Given the description of an element on the screen output the (x, y) to click on. 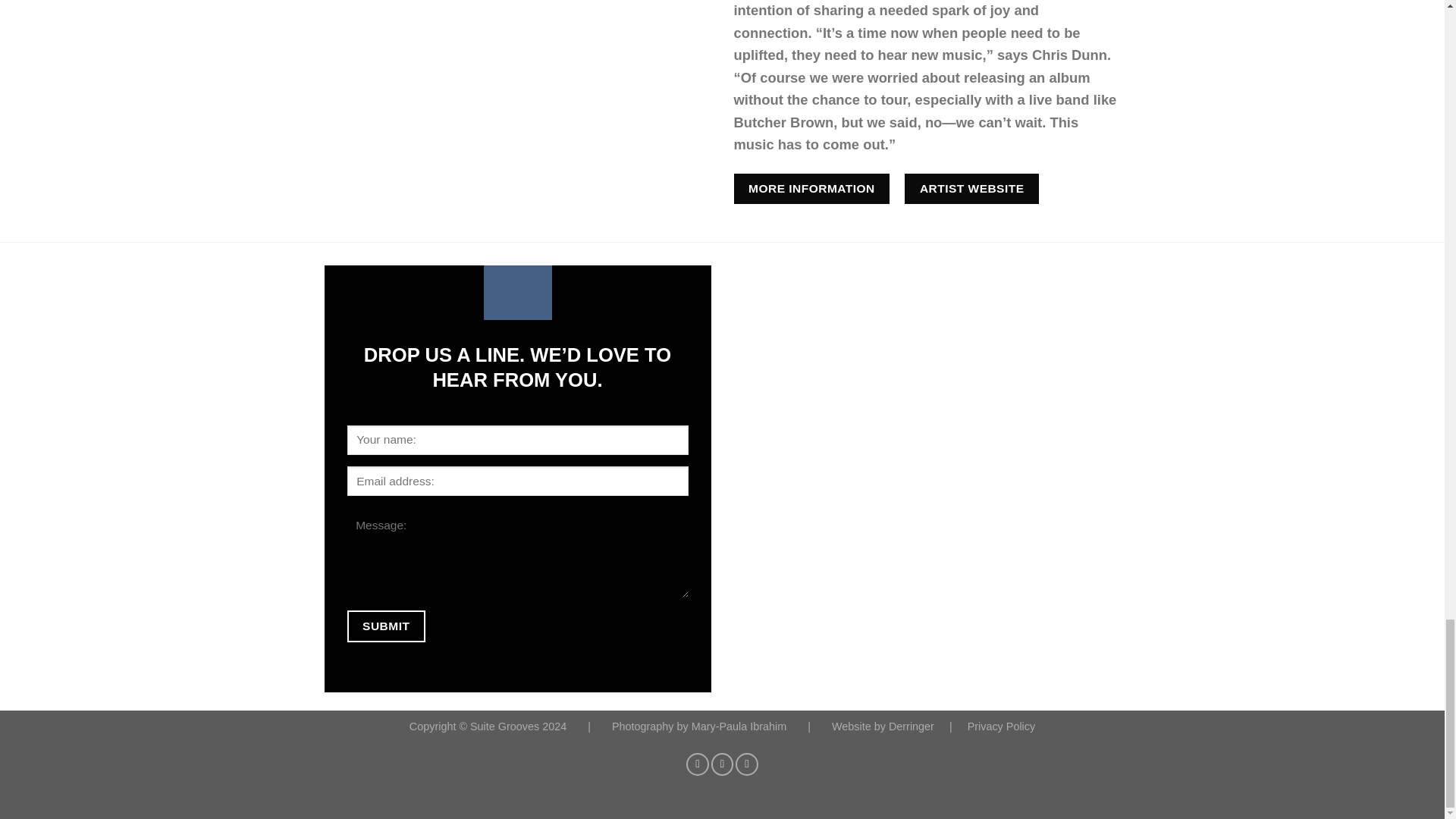
Submit (386, 625)
MORE INFORMATION (811, 188)
Website by Derringer (884, 726)
Submit (386, 625)
ARTIST WEBSITE (971, 188)
Privacy Policy (1001, 726)
Photography by Mary-Paula Ibrahim (700, 726)
